Given the description of an element on the screen output the (x, y) to click on. 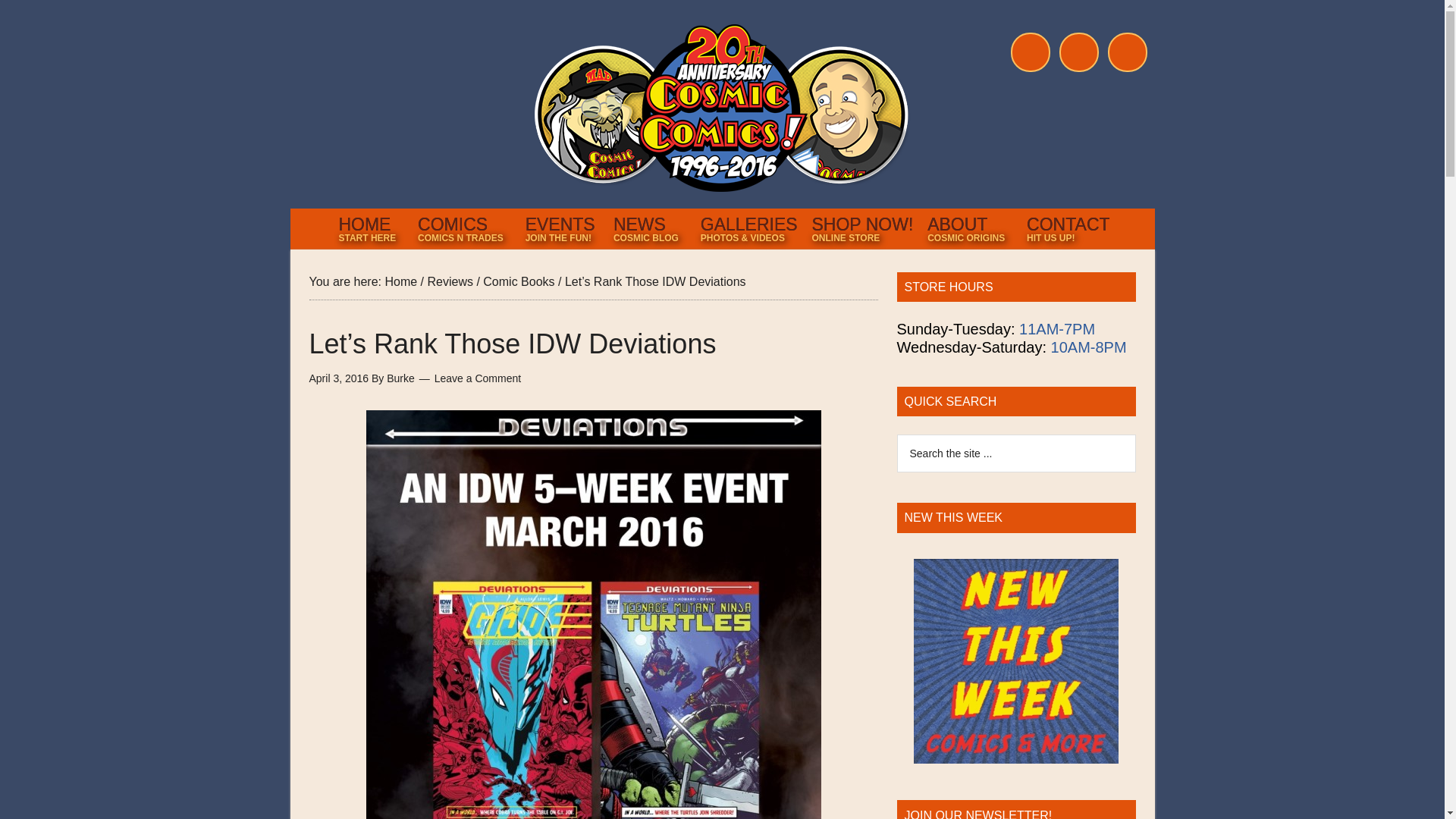
New This Week (1016, 660)
Reviews (861, 227)
Home (462, 227)
Comic Books (368, 227)
Cosmic Comics! (1066, 227)
